Given the description of an element on the screen output the (x, y) to click on. 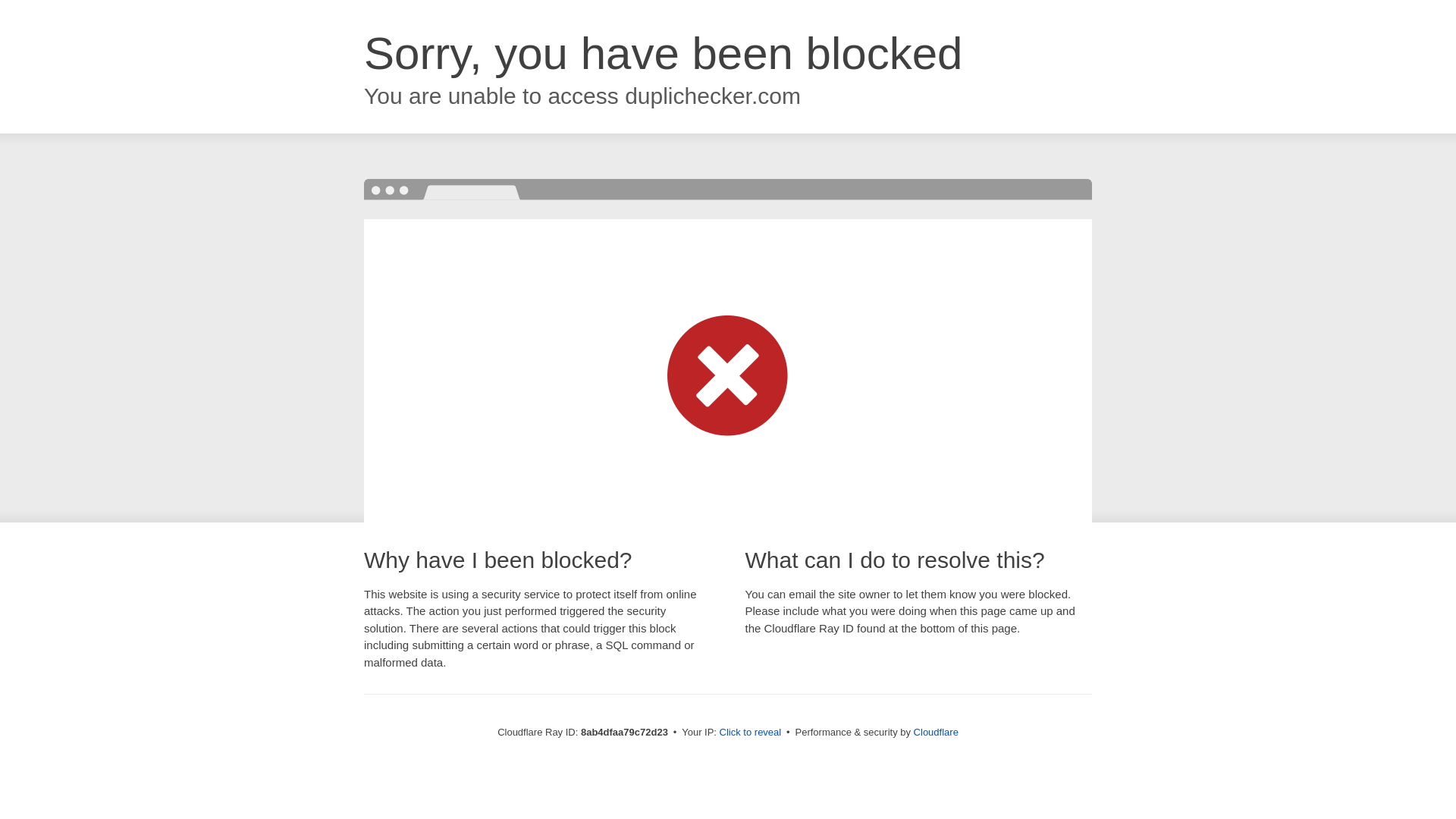
Click to reveal (750, 732)
Cloudflare (936, 731)
